Given the description of an element on the screen output the (x, y) to click on. 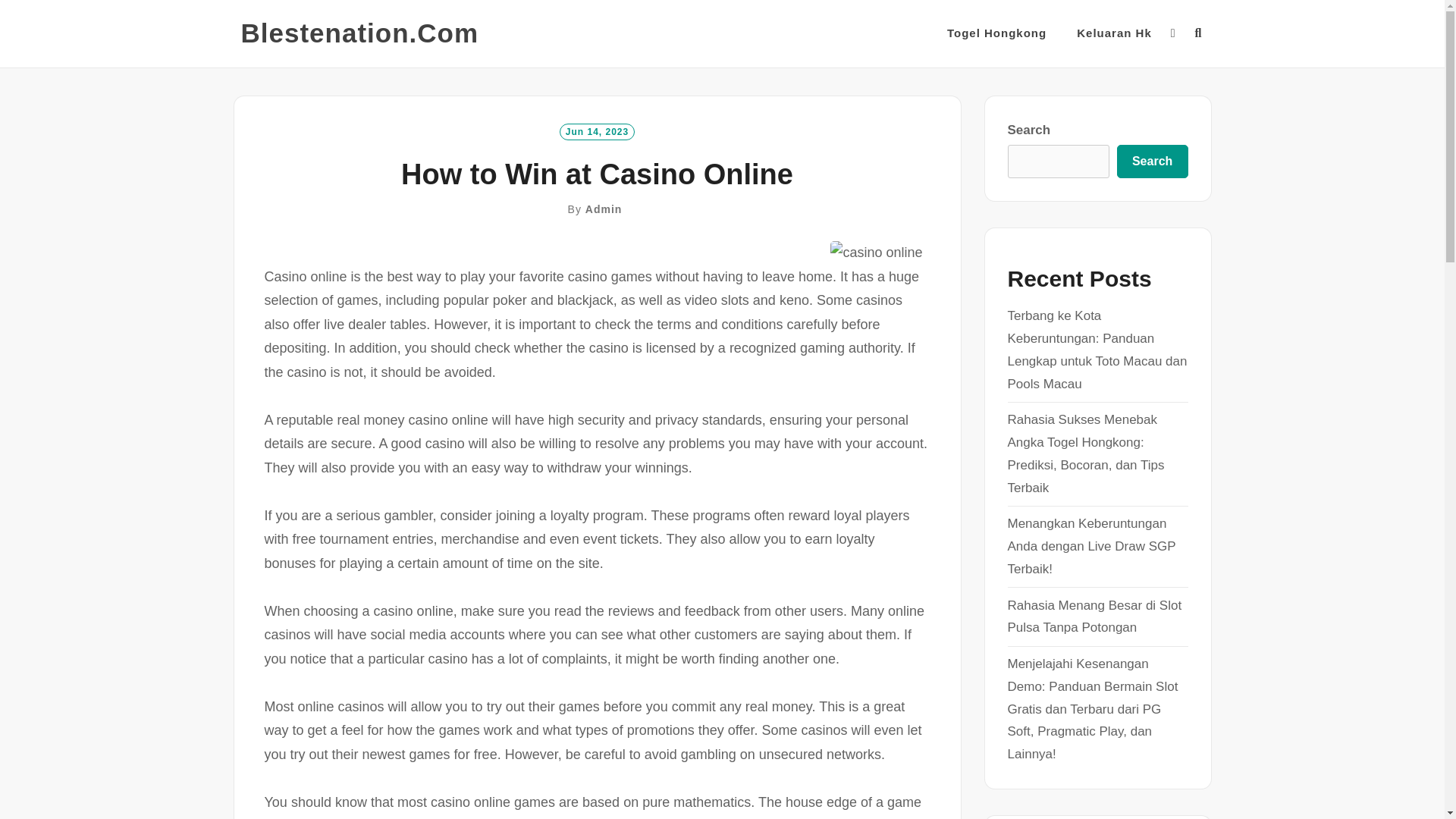
Togel Hongkong (996, 33)
Menangkan Keberuntungan Anda dengan Live Draw SGP Terbaik! (1090, 546)
Rahasia Menang Besar di Slot Pulsa Tanpa Potongan (1093, 616)
Jun 14, 2023 (596, 130)
Keluaran Hk (1114, 33)
Search (1152, 161)
Blestenation.Com (360, 33)
Admin (604, 209)
